Given the description of an element on the screen output the (x, y) to click on. 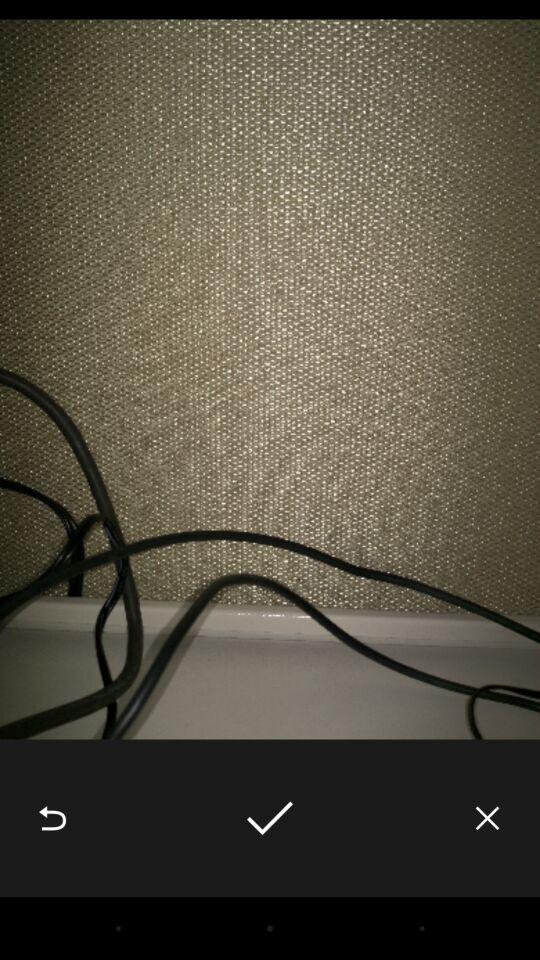
select icon at the bottom left corner (52, 817)
